Given the description of an element on the screen output the (x, y) to click on. 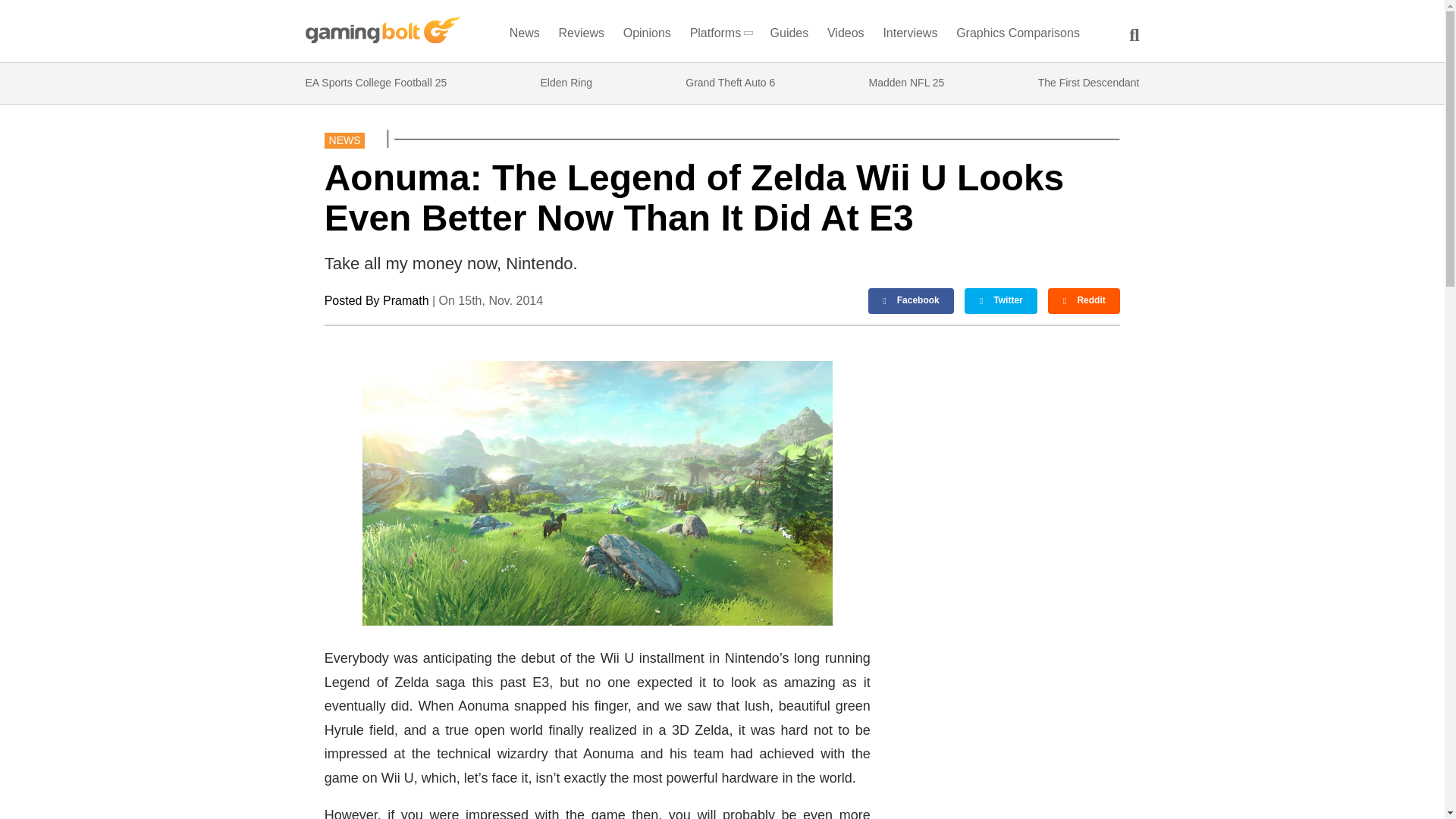
Grand Theft Auto 6 (729, 82)
News (524, 36)
NEWS (345, 140)
Guides (789, 36)
Platforms (720, 36)
Madden NFL 25 (906, 82)
Pramath (405, 300)
Opinions (647, 36)
Twitter (999, 300)
Facebook (911, 300)
Reviews (581, 36)
Videos (845, 36)
EA Sports College Football 25 (375, 82)
Reddit (1083, 300)
Elden Ring (566, 82)
